Given the description of an element on the screen output the (x, y) to click on. 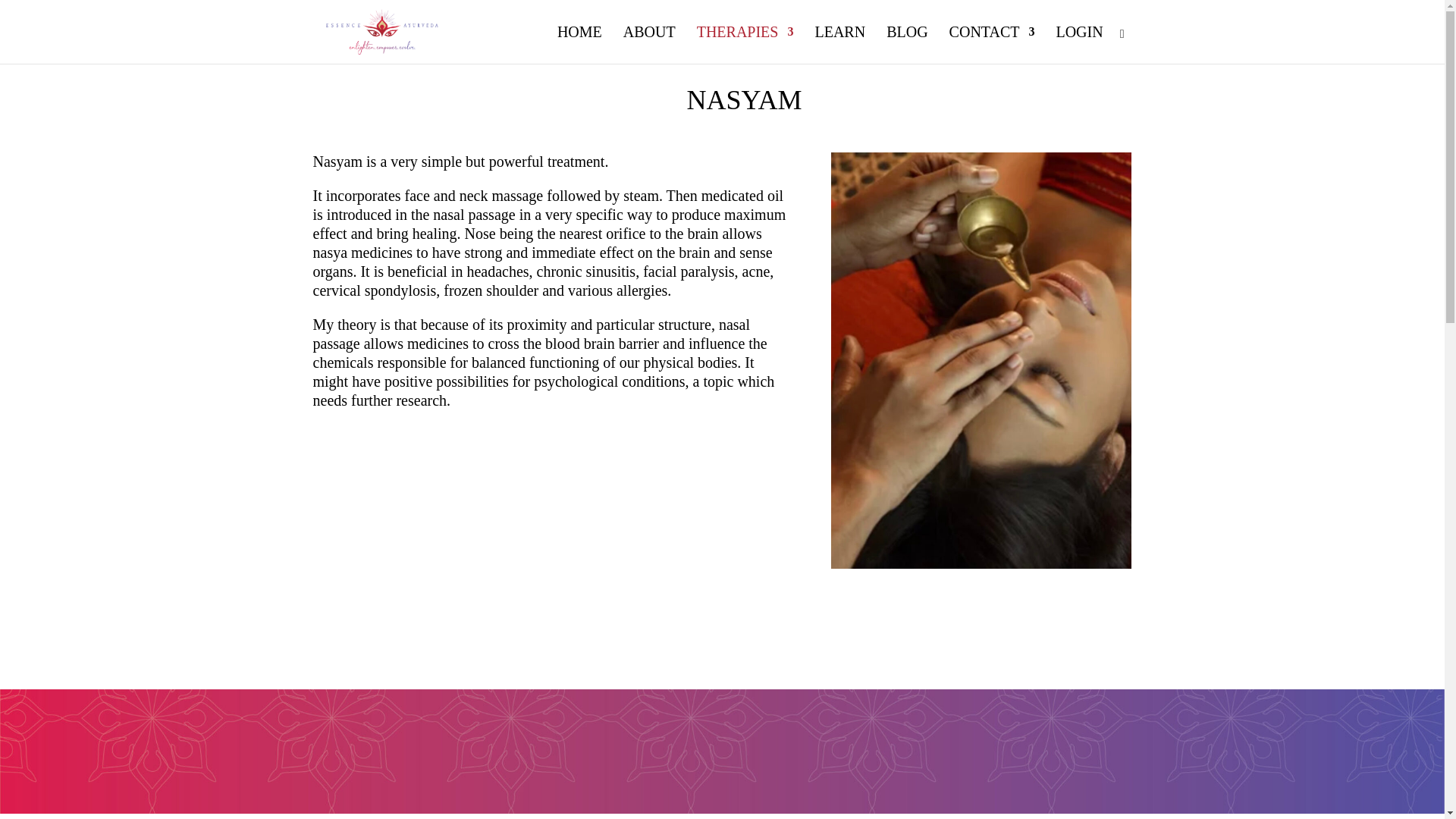
LEARN (838, 44)
LOGIN (1078, 44)
CONTACT (992, 44)
ABOUT (649, 44)
BLOG (906, 44)
HOME (579, 44)
THERAPIES (745, 44)
